Given the description of an element on the screen output the (x, y) to click on. 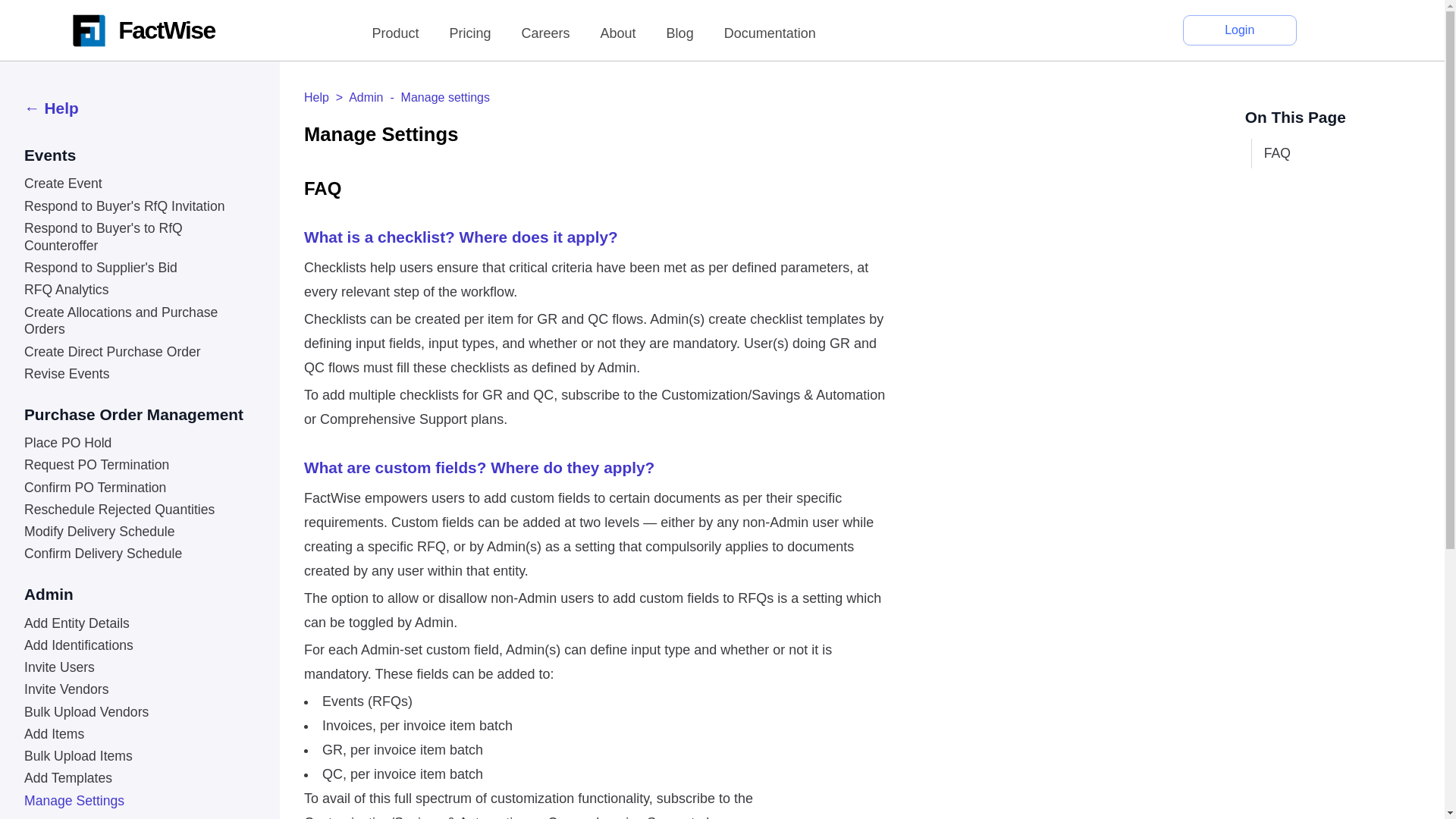
Request PO Termination (137, 463)
Respond to Buyer's to RfQ Counteroffer (137, 234)
Revise Events (137, 371)
Invite Vendors (137, 687)
Manage Settings (137, 798)
Invite Users (137, 665)
Bulk Upload Items (137, 753)
Events (137, 155)
Confirm Delivery Schedule (137, 551)
Documentation (769, 33)
Careers (545, 33)
Add Items (137, 731)
Respond to Supplier's Bid (137, 265)
Create Allocations and Purchase Orders (137, 318)
Pricing (469, 33)
